Given the description of an element on the screen output the (x, y) to click on. 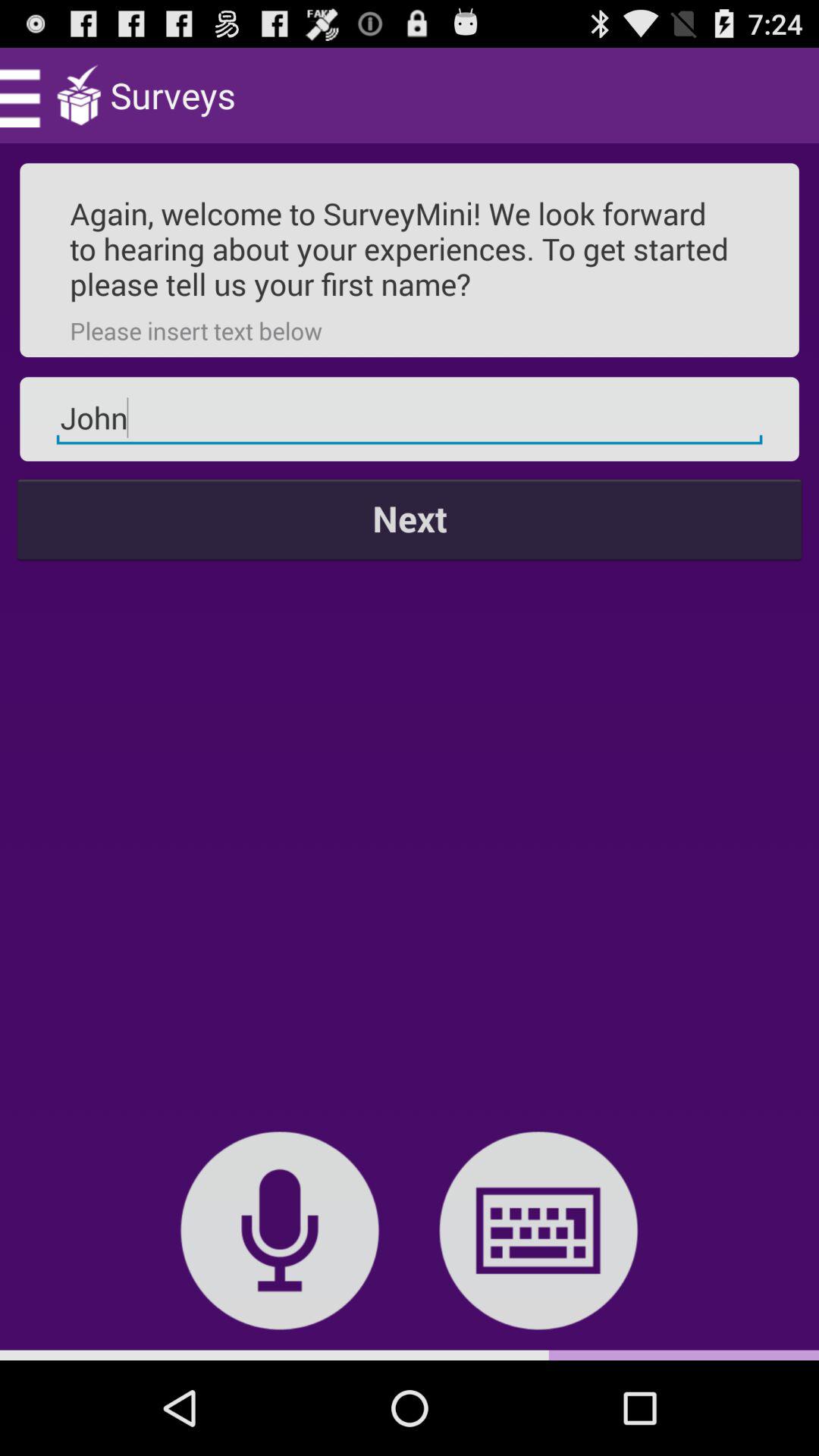
press the item below the next (538, 1230)
